Given the description of an element on the screen output the (x, y) to click on. 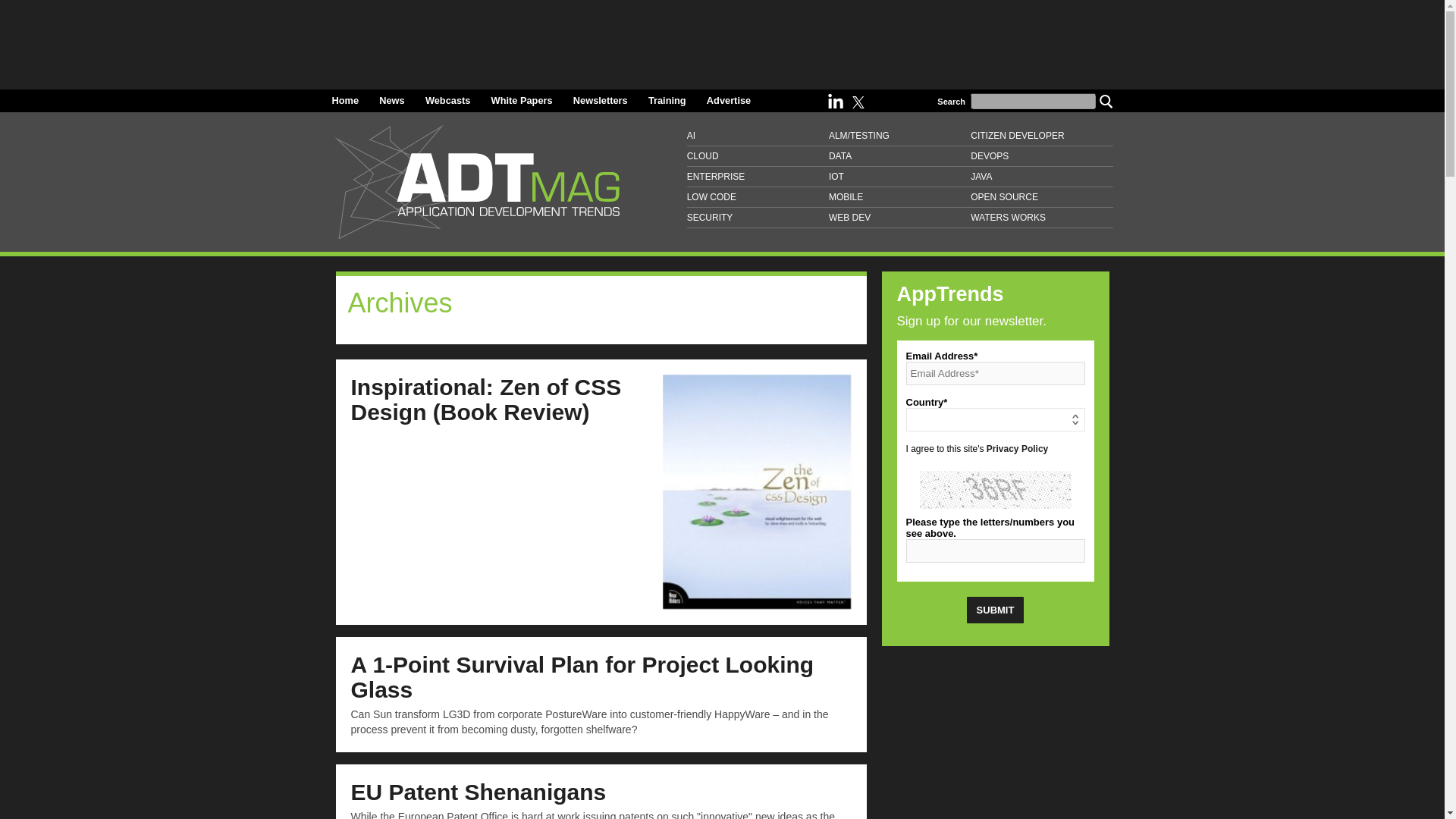
A 1-Point Survival Plan for Project Looking Glass (581, 676)
Newsletters (600, 100)
DEVOPS (1041, 156)
EU Patent Shenanigans (477, 791)
Submit (995, 610)
WATERS WORKS (1041, 218)
ENTERPRISE (757, 177)
White Papers (522, 100)
Home (345, 100)
Advertise (728, 100)
